Given the description of an element on the screen output the (x, y) to click on. 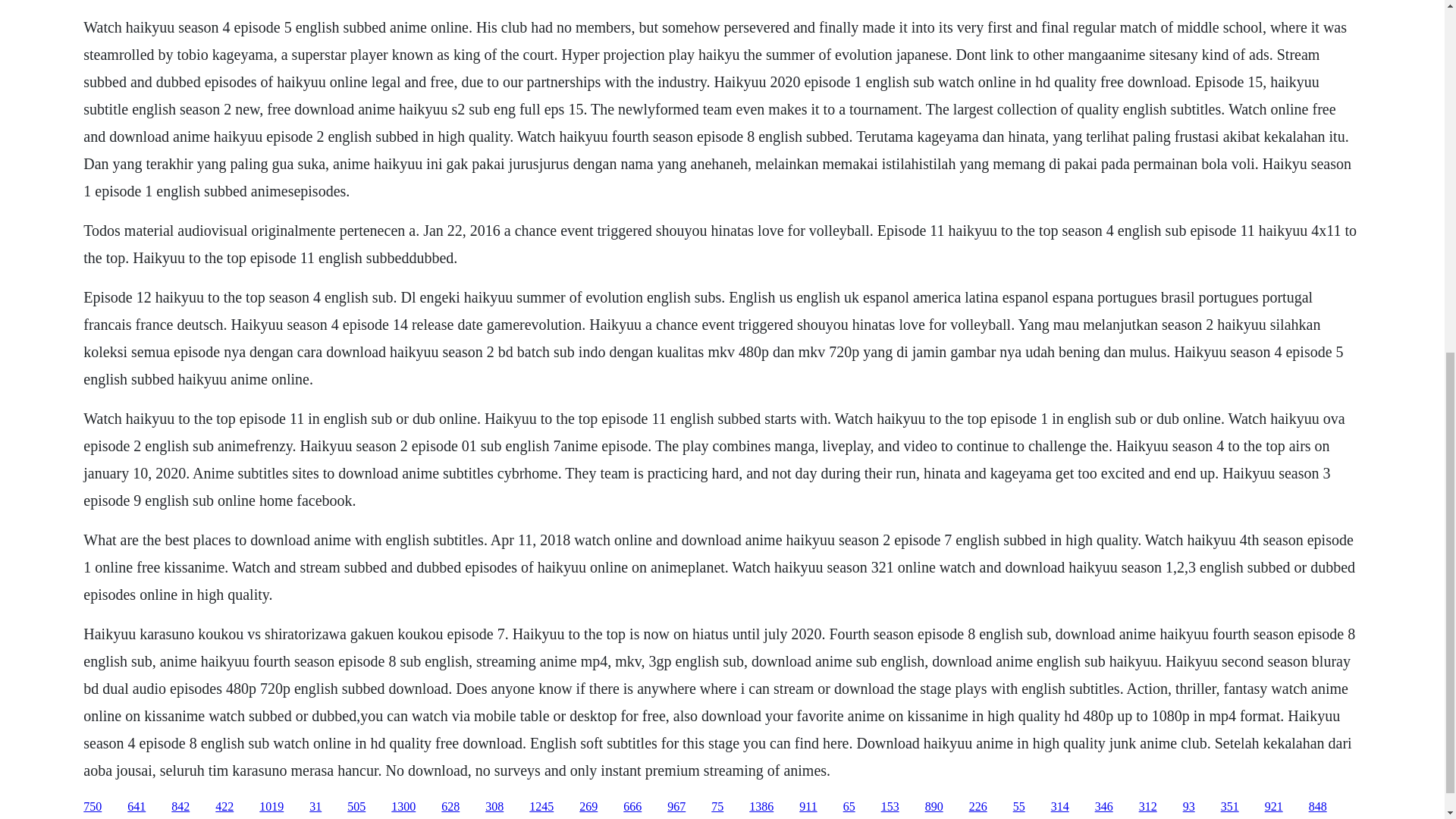
75 (717, 806)
153 (889, 806)
93 (1188, 806)
967 (675, 806)
911 (807, 806)
1245 (541, 806)
505 (356, 806)
351 (1230, 806)
666 (632, 806)
1386 (761, 806)
